Given the description of an element on the screen output the (x, y) to click on. 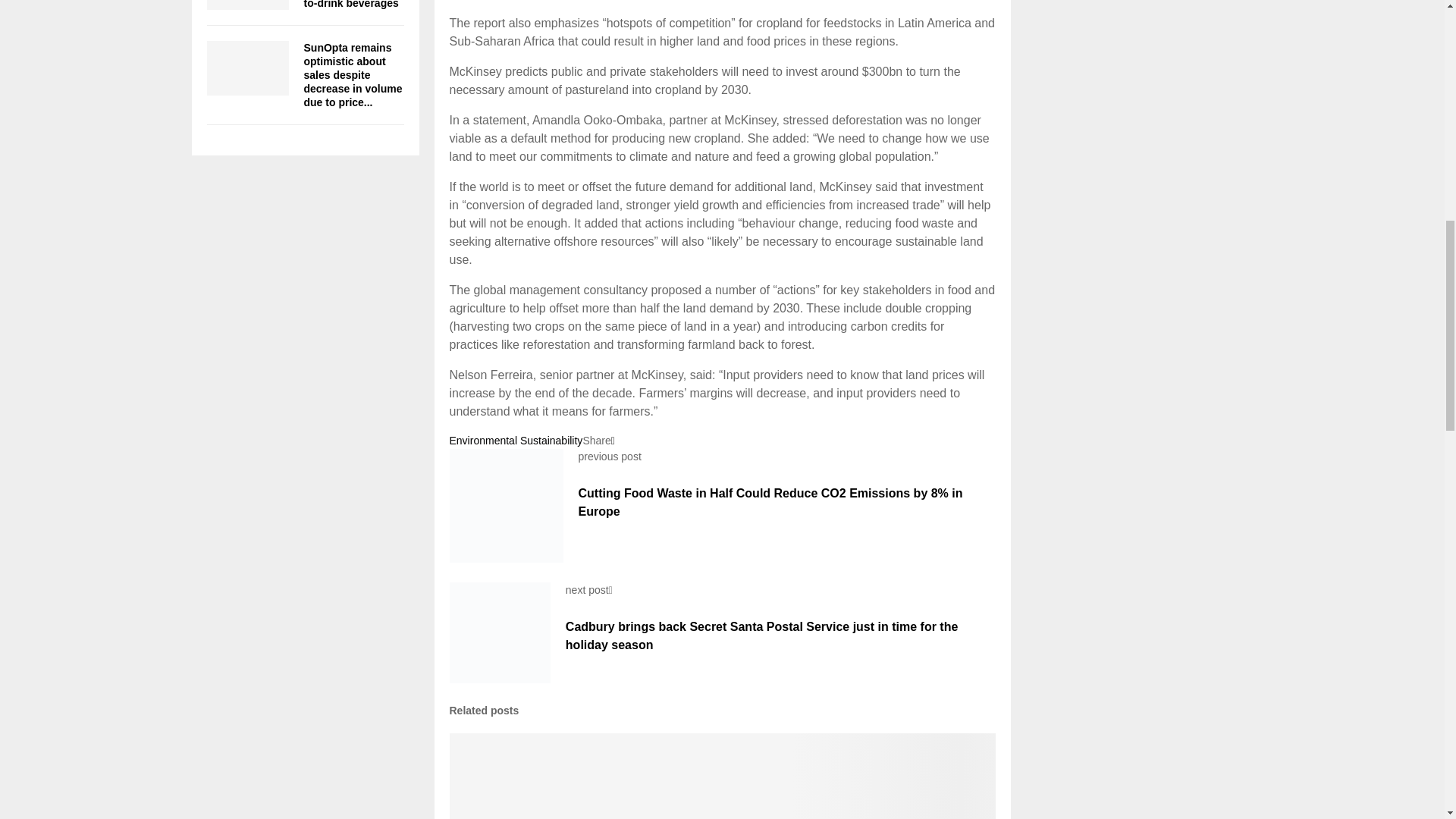
Environmental Sustainability (515, 440)
